Given the description of an element on the screen output the (x, y) to click on. 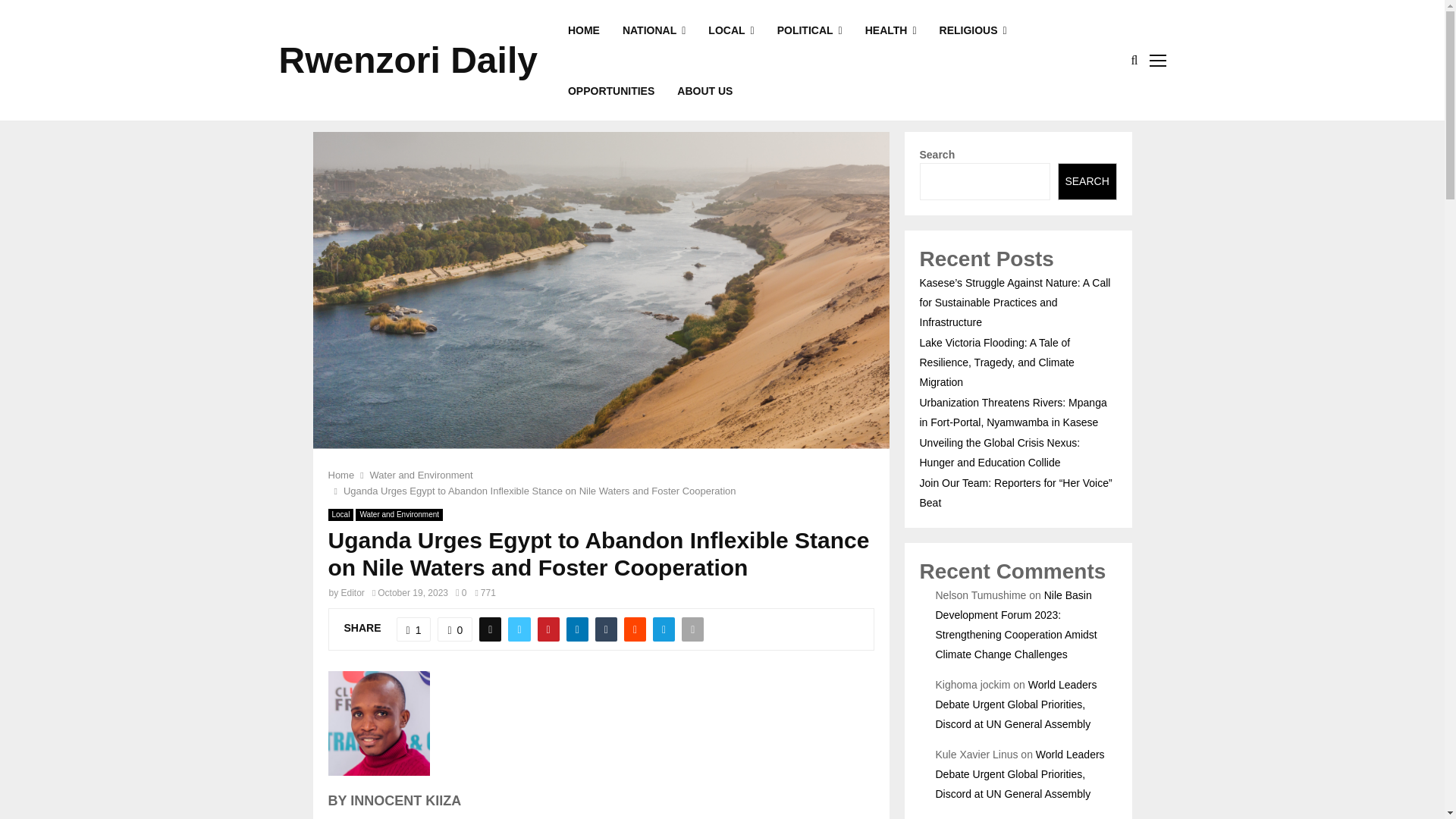
NATIONAL (654, 30)
Rwenzori Daily (408, 60)
POLITICAL (810, 30)
